Given the description of an element on the screen output the (x, y) to click on. 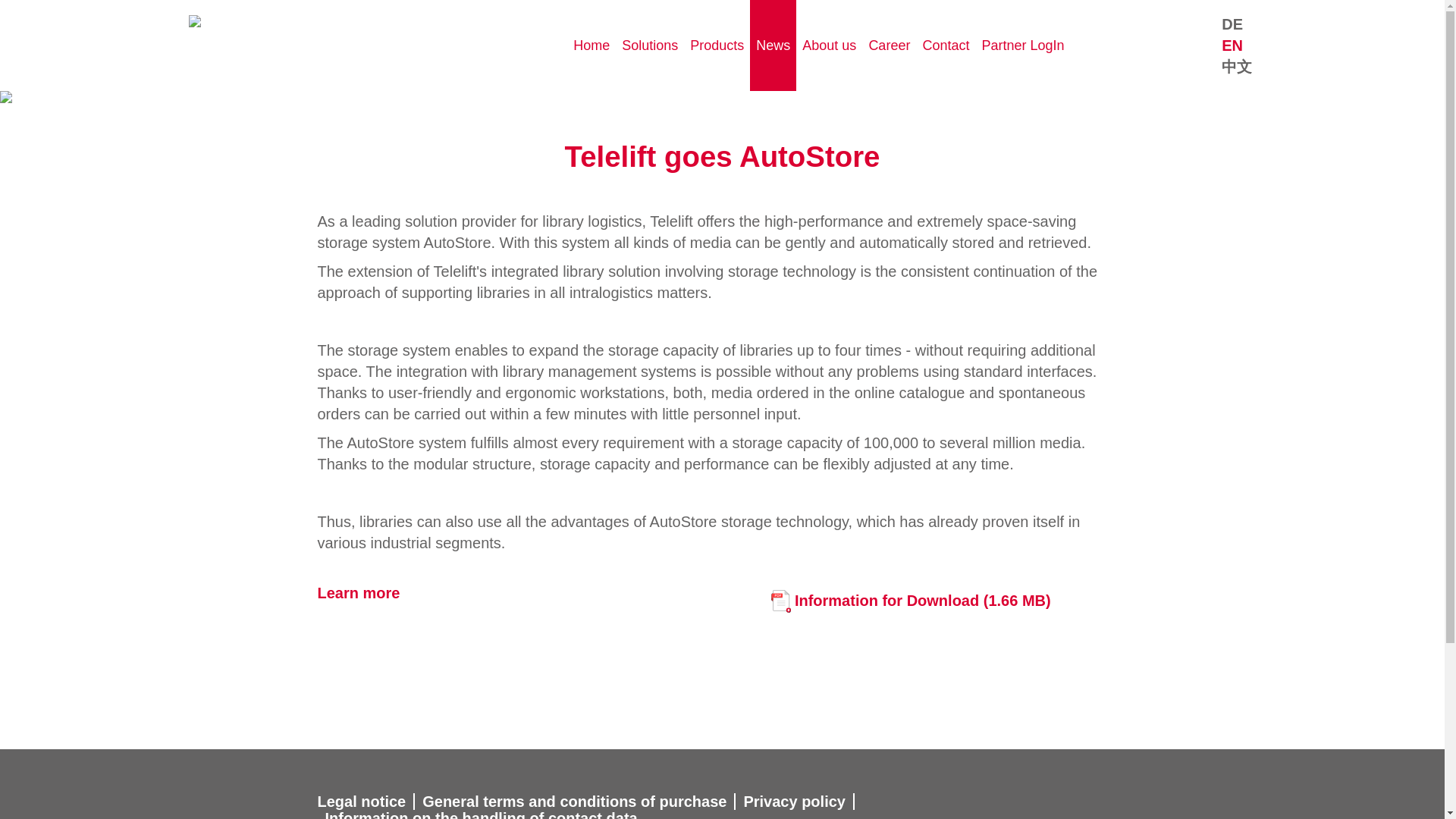
Information for Download (922, 603)
Solutions (649, 45)
News (772, 45)
Contact (945, 45)
Products (716, 45)
Career (888, 45)
About us (828, 45)
Partner LogIn (1022, 45)
Home (591, 45)
EN (1232, 45)
DE (1232, 23)
